Given the description of an element on the screen output the (x, y) to click on. 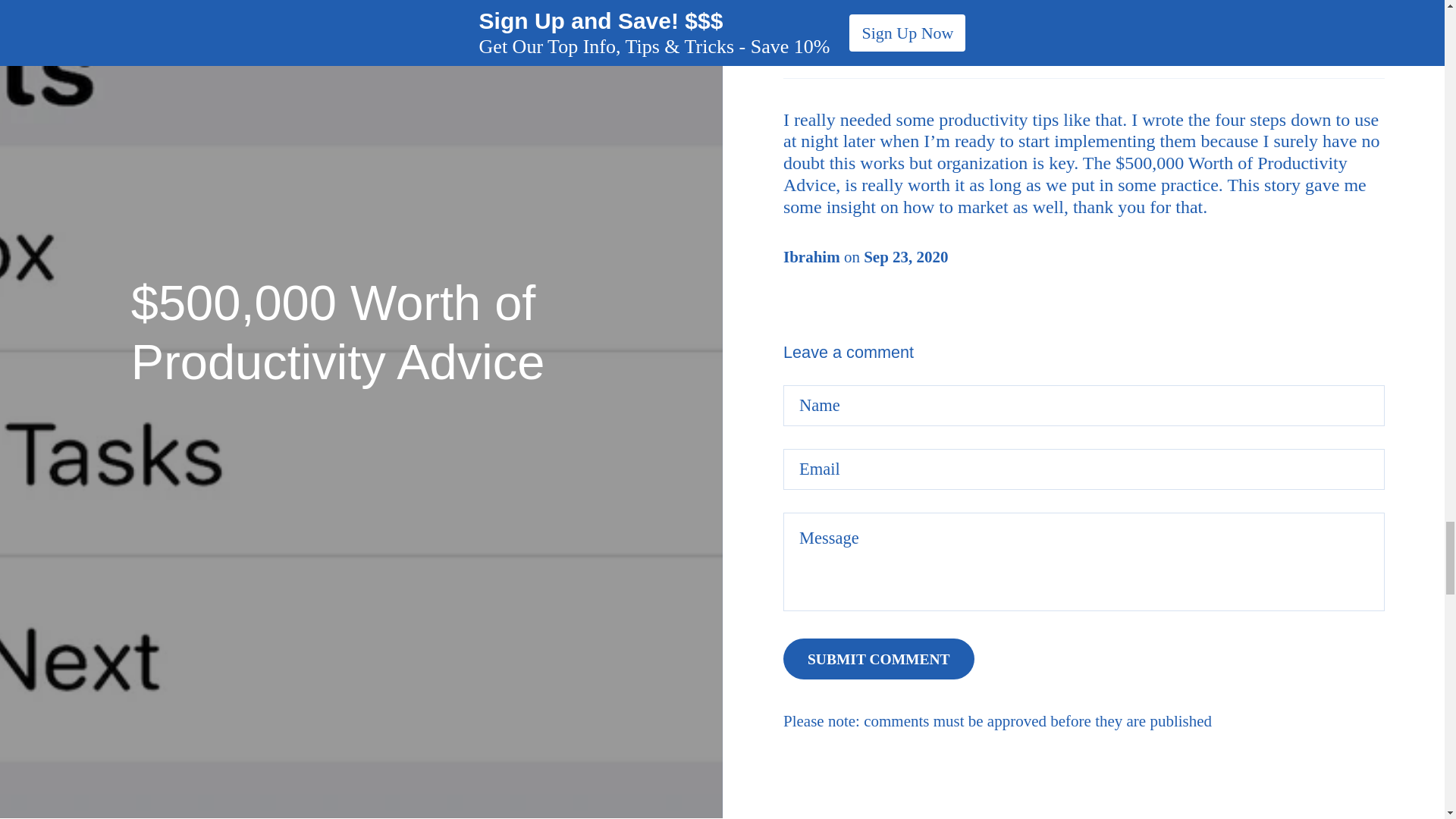
SUBMIT COMMENT (879, 659)
